Given the description of an element on the screen output the (x, y) to click on. 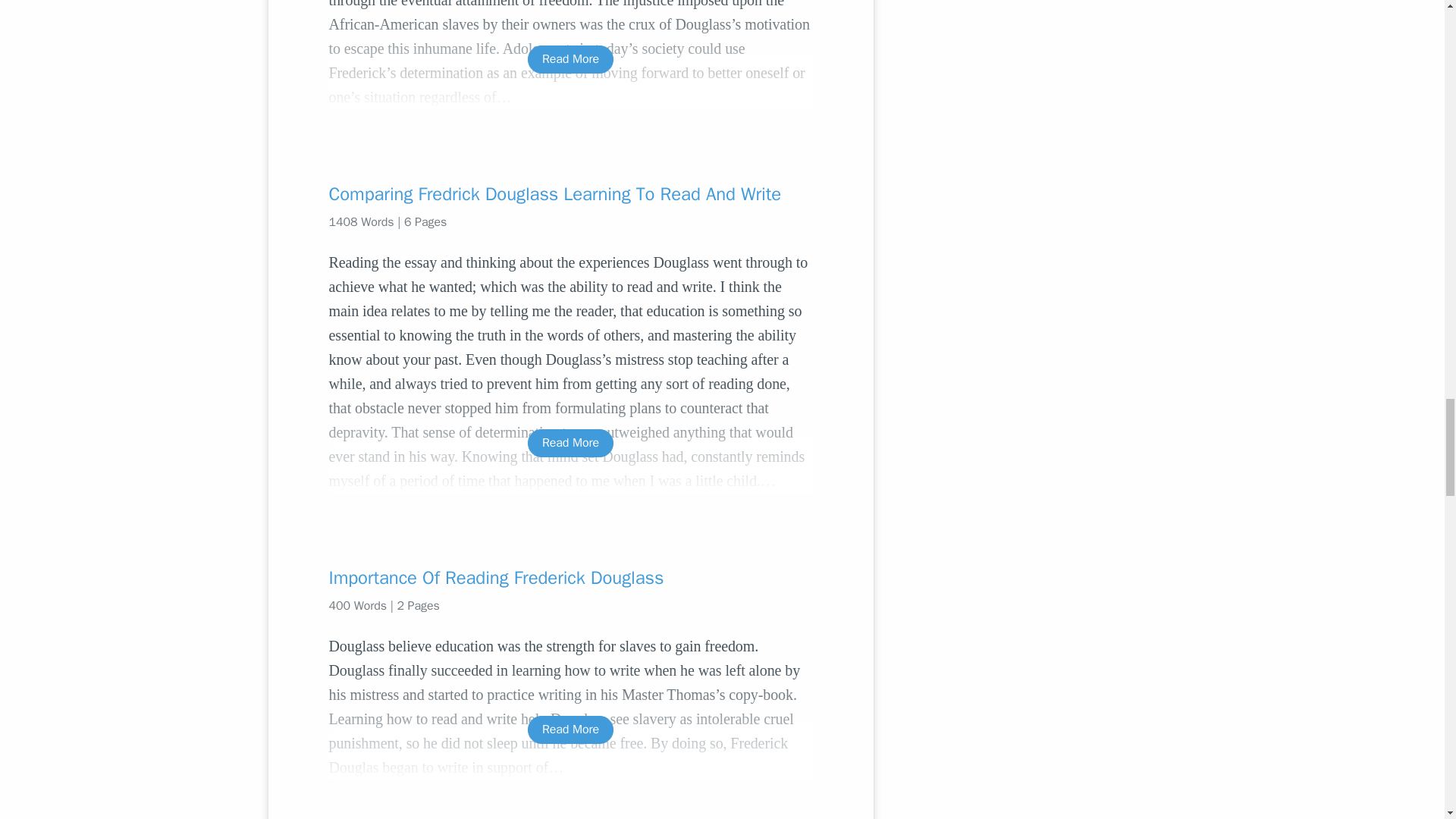
Read More (569, 729)
Read More (569, 443)
Comparing Fredrick Douglass Learning To Read And Write (570, 193)
Read More (569, 59)
Importance Of Reading Frederick Douglass (570, 577)
